Given the description of an element on the screen output the (x, y) to click on. 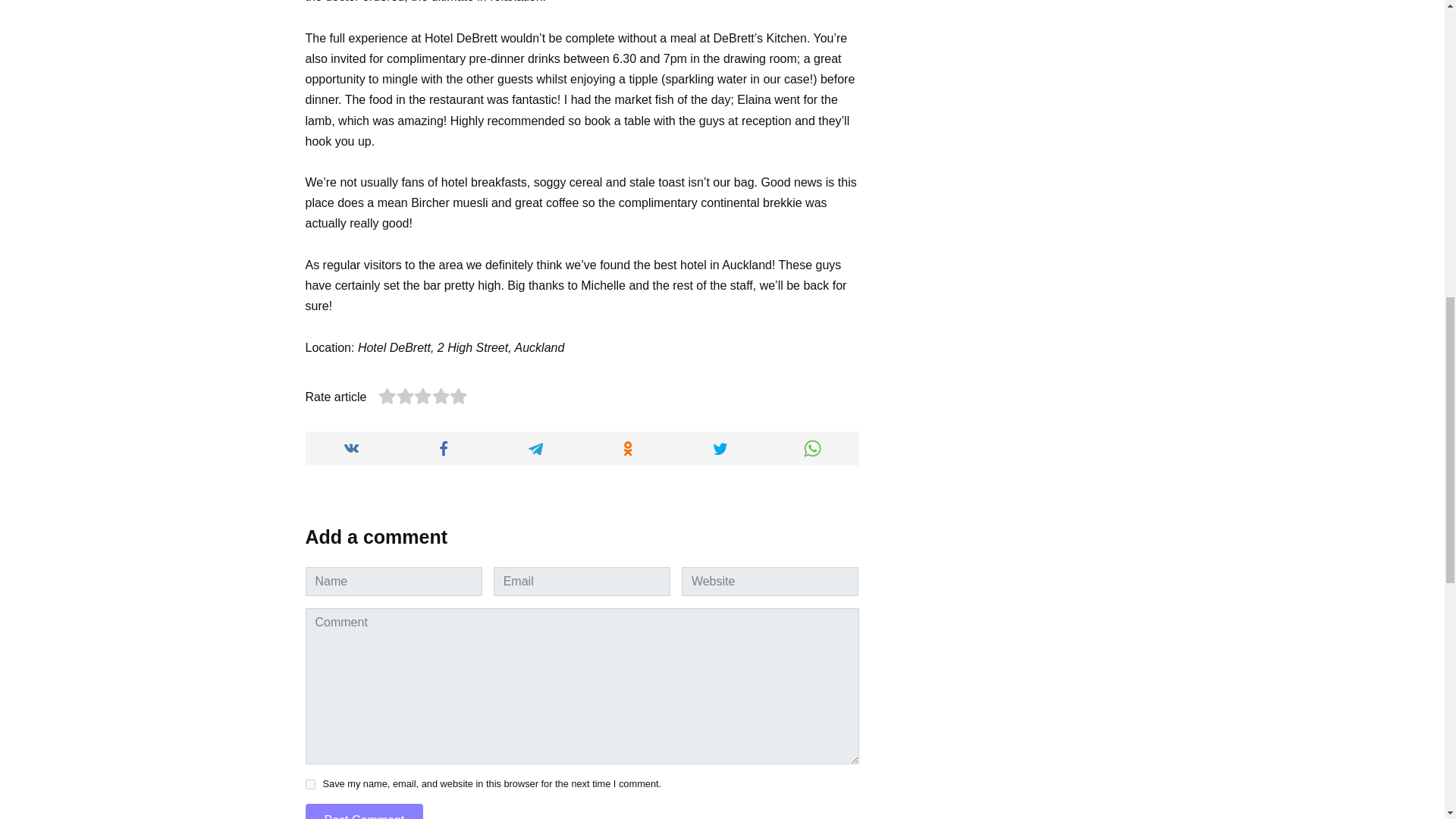
Post Comment (363, 811)
yes (309, 784)
Post Comment (363, 811)
